Given the description of an element on the screen output the (x, y) to click on. 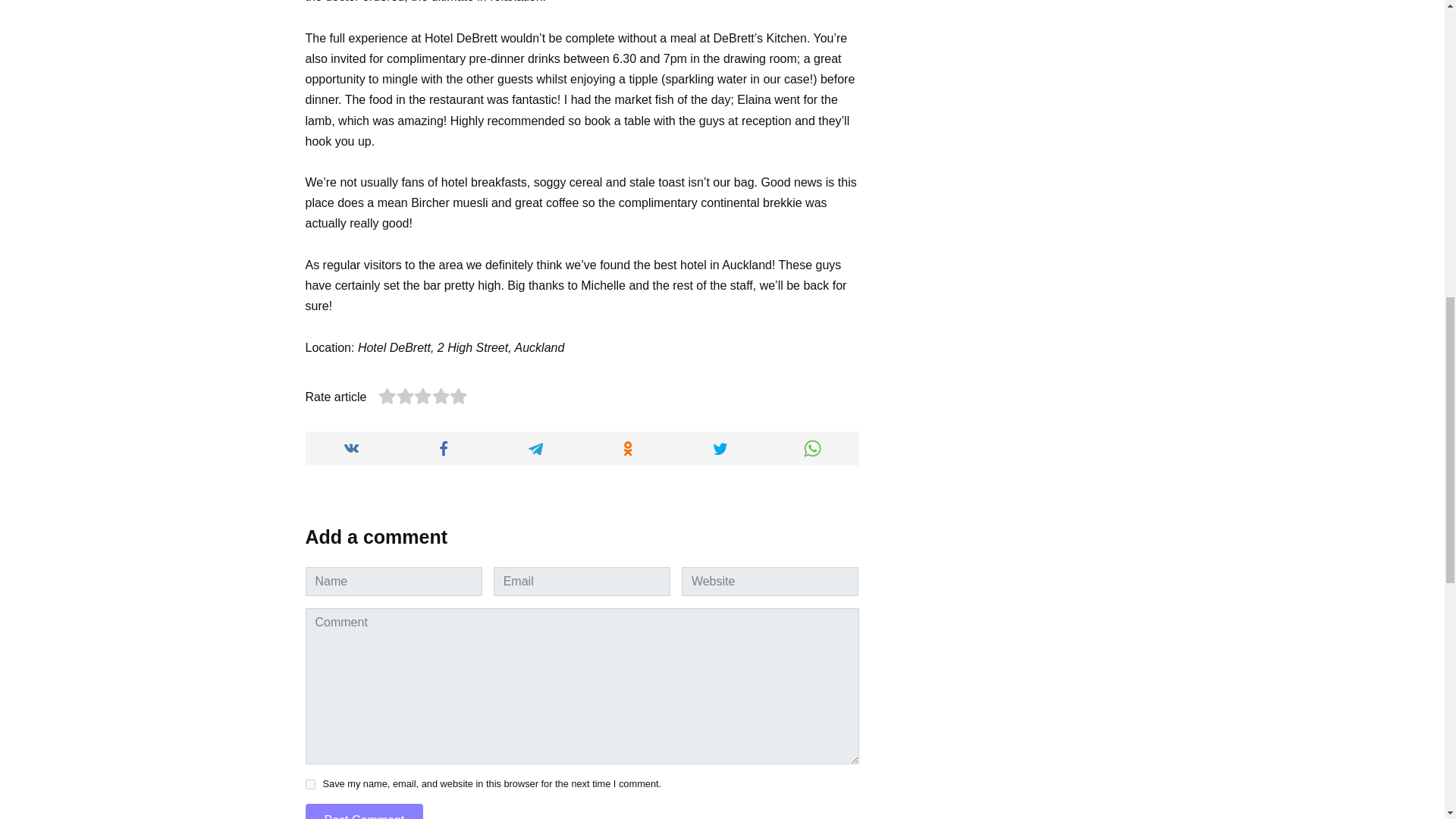
Post Comment (363, 811)
yes (309, 784)
Post Comment (363, 811)
